Given the description of an element on the screen output the (x, y) to click on. 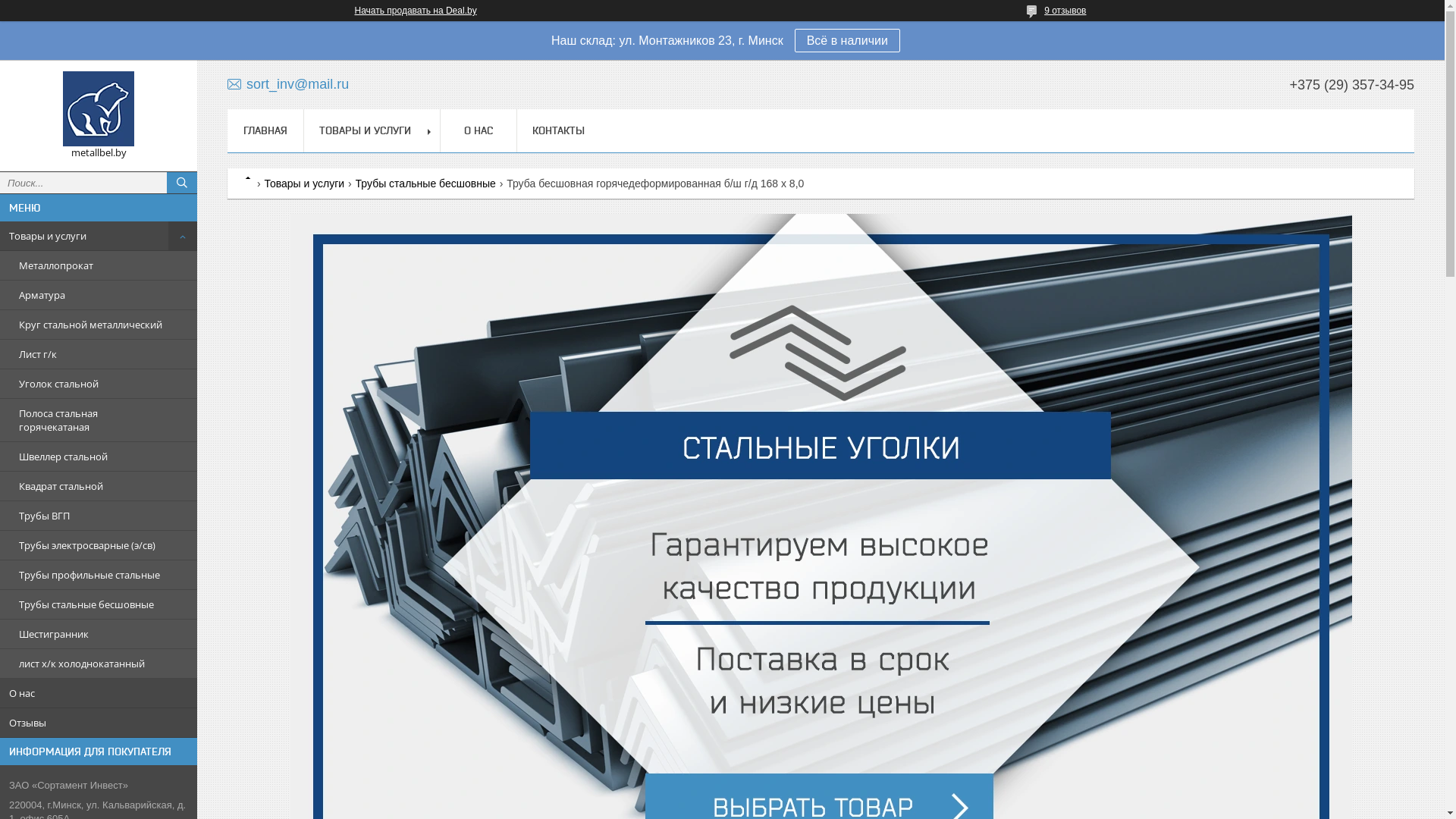
sort_inv@mail.ru Element type: text (287, 83)
